Given the description of an element on the screen output the (x, y) to click on. 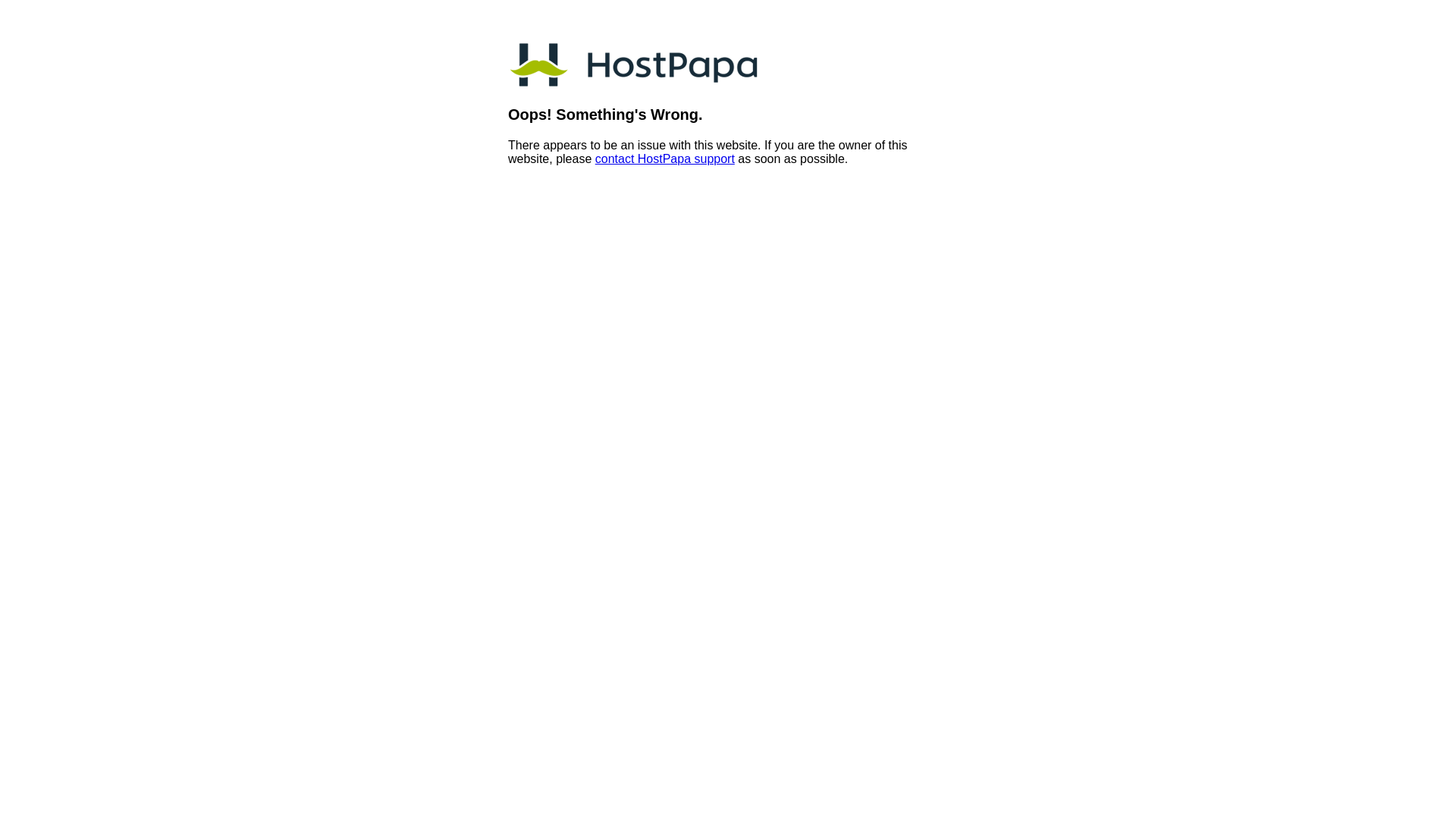
contact HostPapa support Element type: text (664, 158)
